Given the description of an element on the screen output the (x, y) to click on. 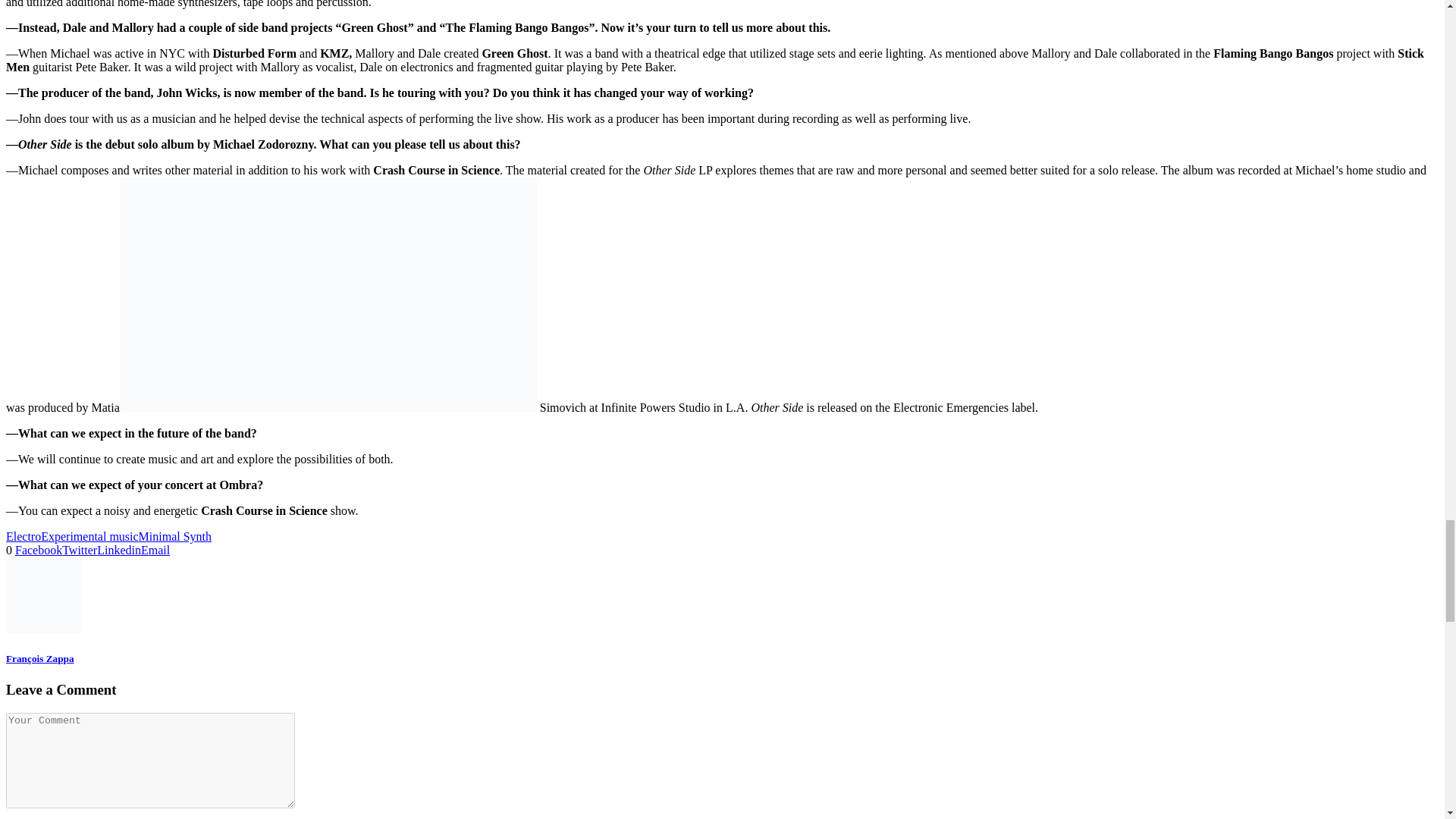
Experimental music (89, 535)
Electro (22, 535)
